Given the description of an element on the screen output the (x, y) to click on. 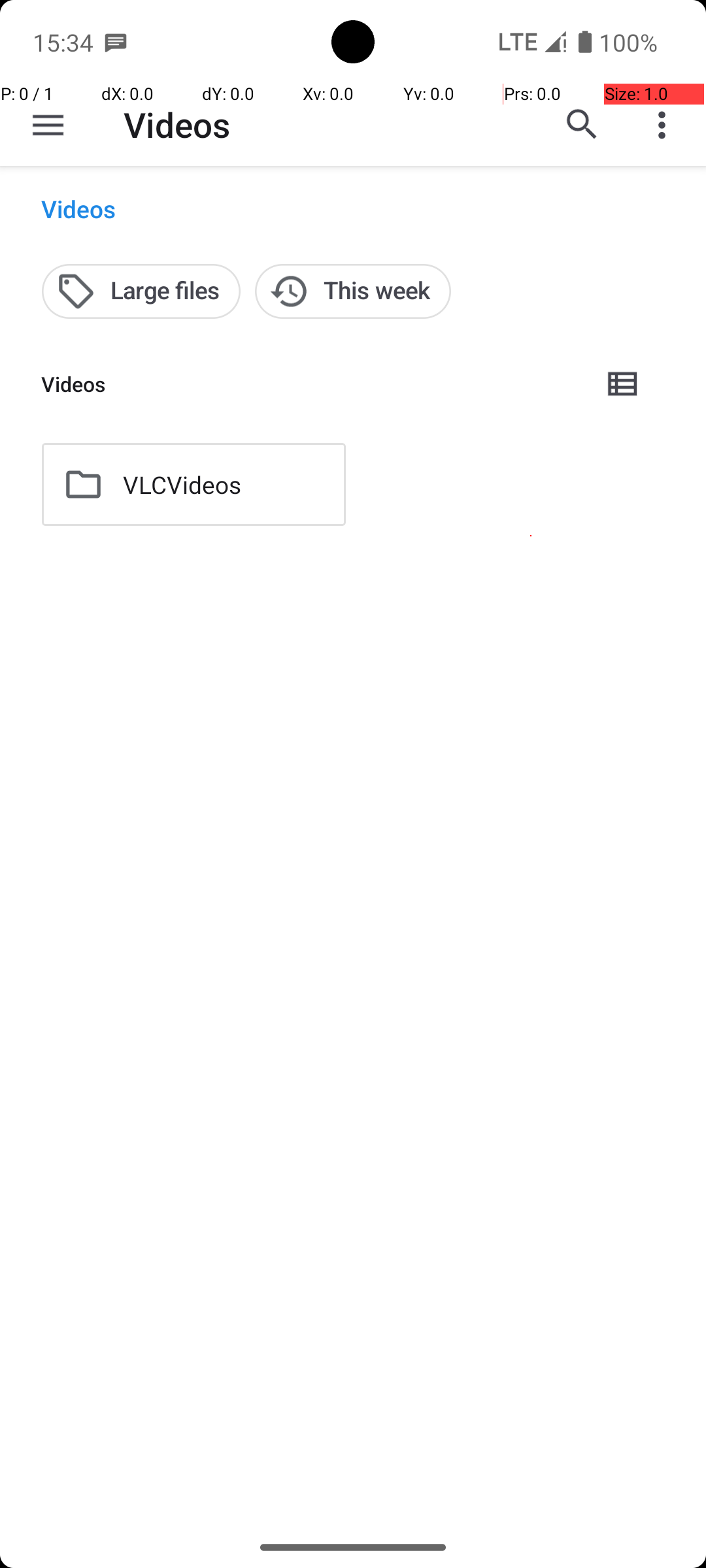
VLCVideos Element type: android.widget.TextView (181, 484)
